Given the description of an element on the screen output the (x, y) to click on. 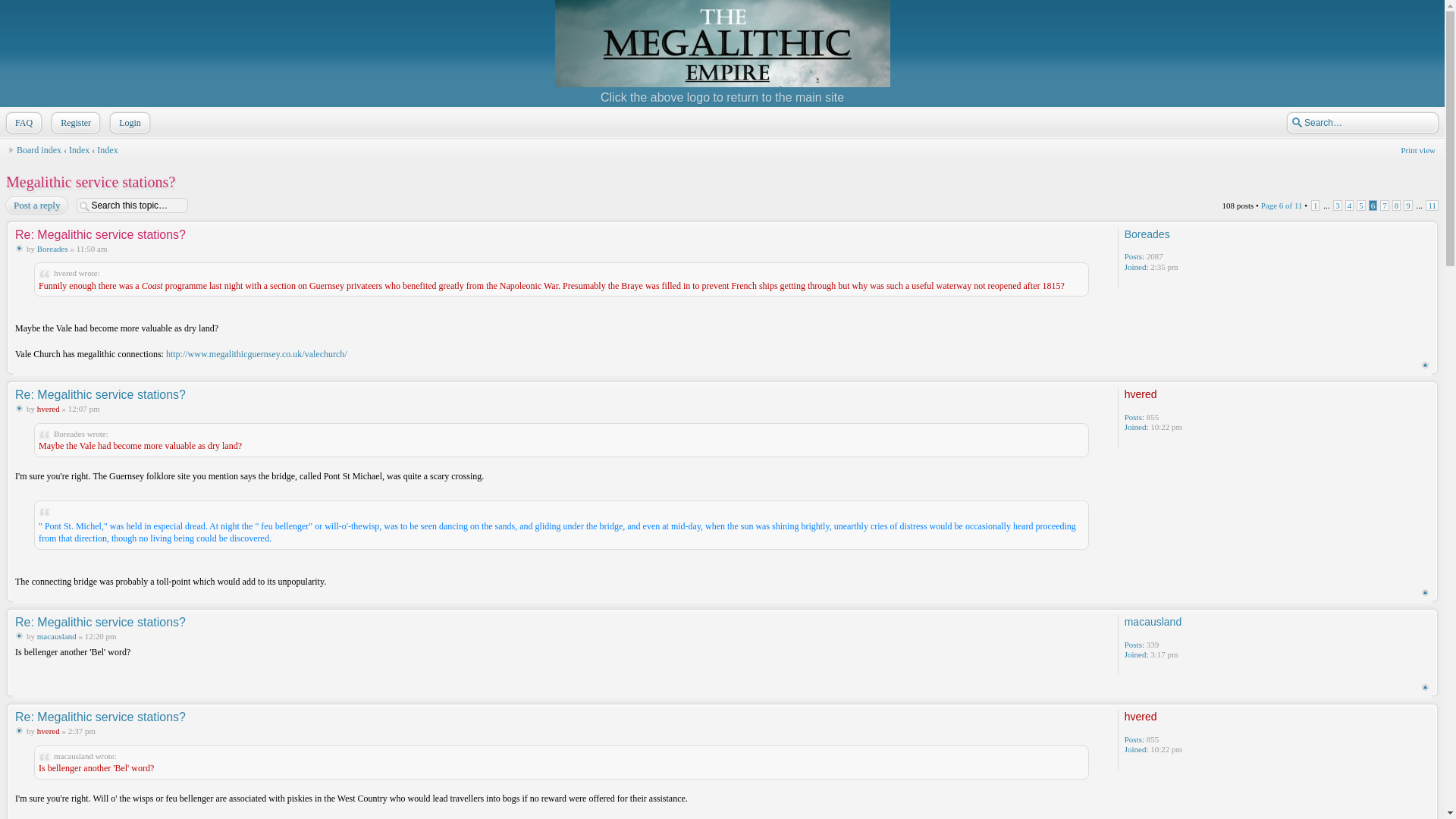
Frequently Asked Questions (27, 122)
Post a reply (39, 205)
Index (107, 149)
Boreades (52, 248)
Boreades (1147, 234)
Search for keywords (1356, 122)
Register (79, 122)
Top (1425, 365)
macausland (1153, 621)
Post (18, 635)
